Given the description of an element on the screen output the (x, y) to click on. 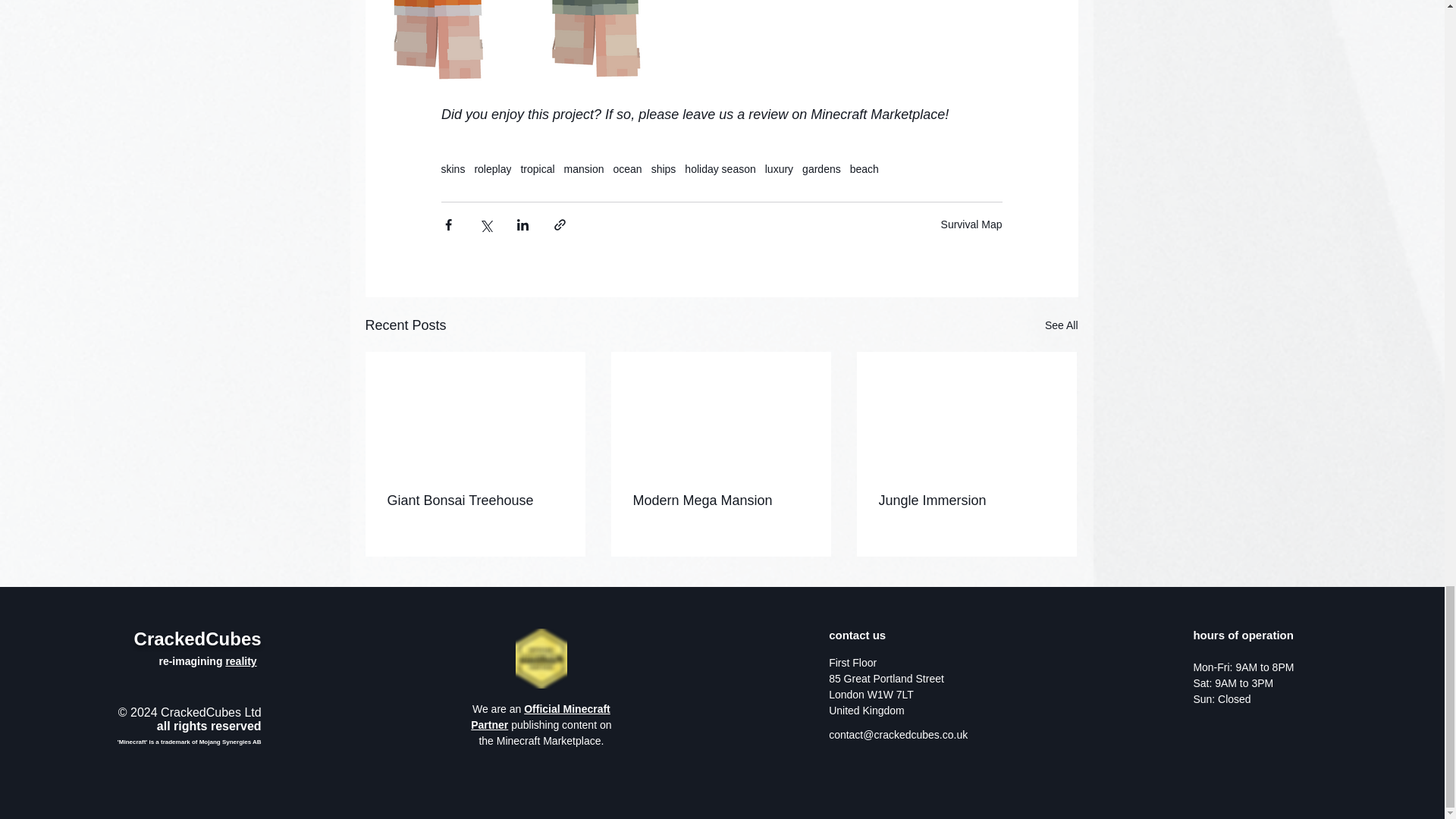
Modern Mega Mansion (719, 500)
roleplay (492, 168)
Giant Bonsai Treehouse (474, 500)
skins (453, 168)
ships (663, 168)
ocean (627, 168)
beach (864, 168)
gardens (821, 168)
Official Minecraft Partner (540, 716)
Survival Map (971, 224)
Jungle Immersion (965, 500)
tropical (536, 168)
luxury (779, 168)
mansion (584, 168)
holiday season (719, 168)
